Given the description of an element on the screen output the (x, y) to click on. 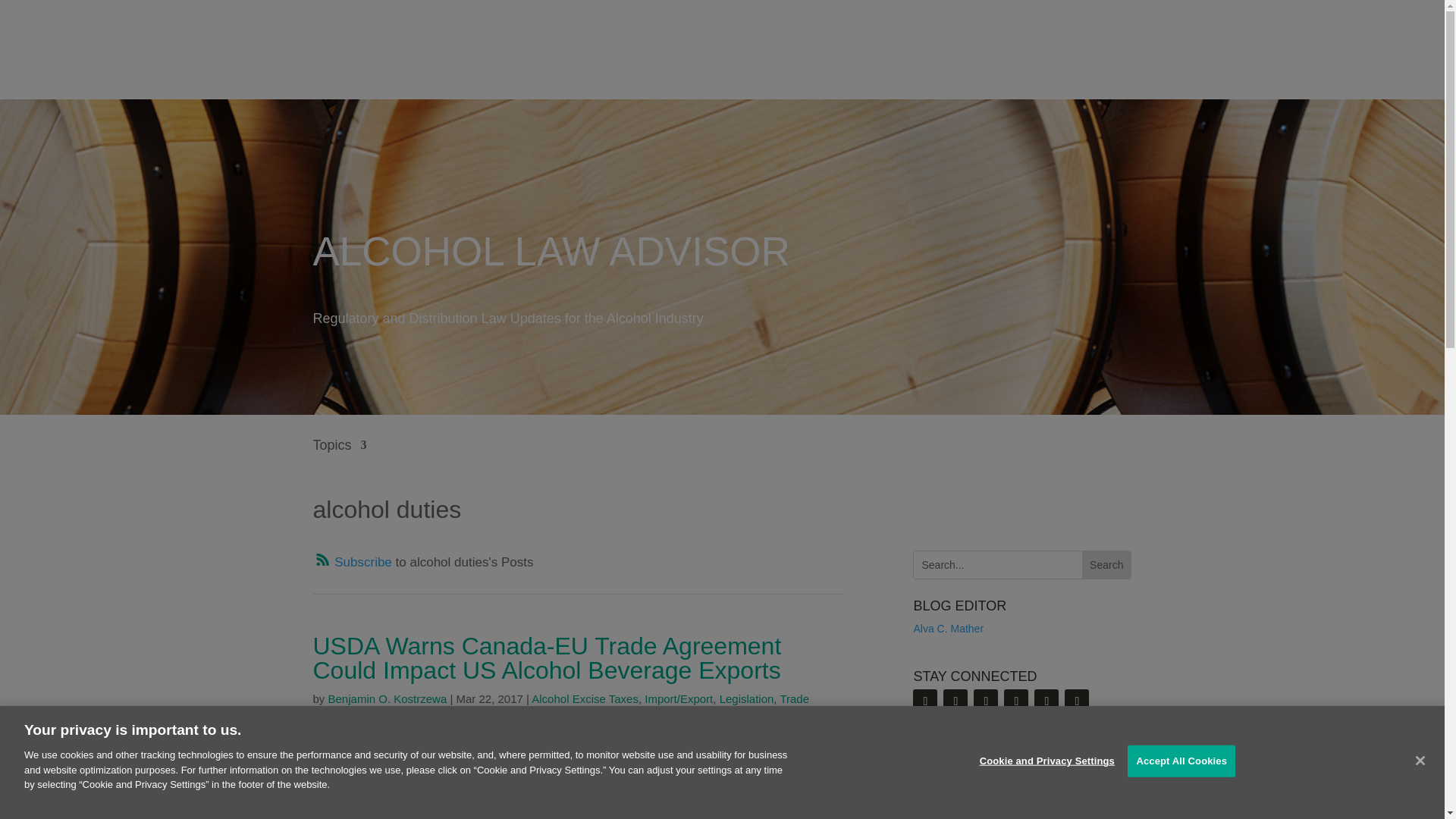
Search (1106, 564)
Topics (339, 455)
Follow on Youtube (1015, 701)
Follow on LinkedIn (955, 701)
Posts by Benjamin O. Kostrzewa (387, 698)
Follow on RSS (352, 562)
Follow on RSS (924, 701)
Follow on X (985, 701)
Search (1106, 564)
